Given the description of an element on the screen output the (x, y) to click on. 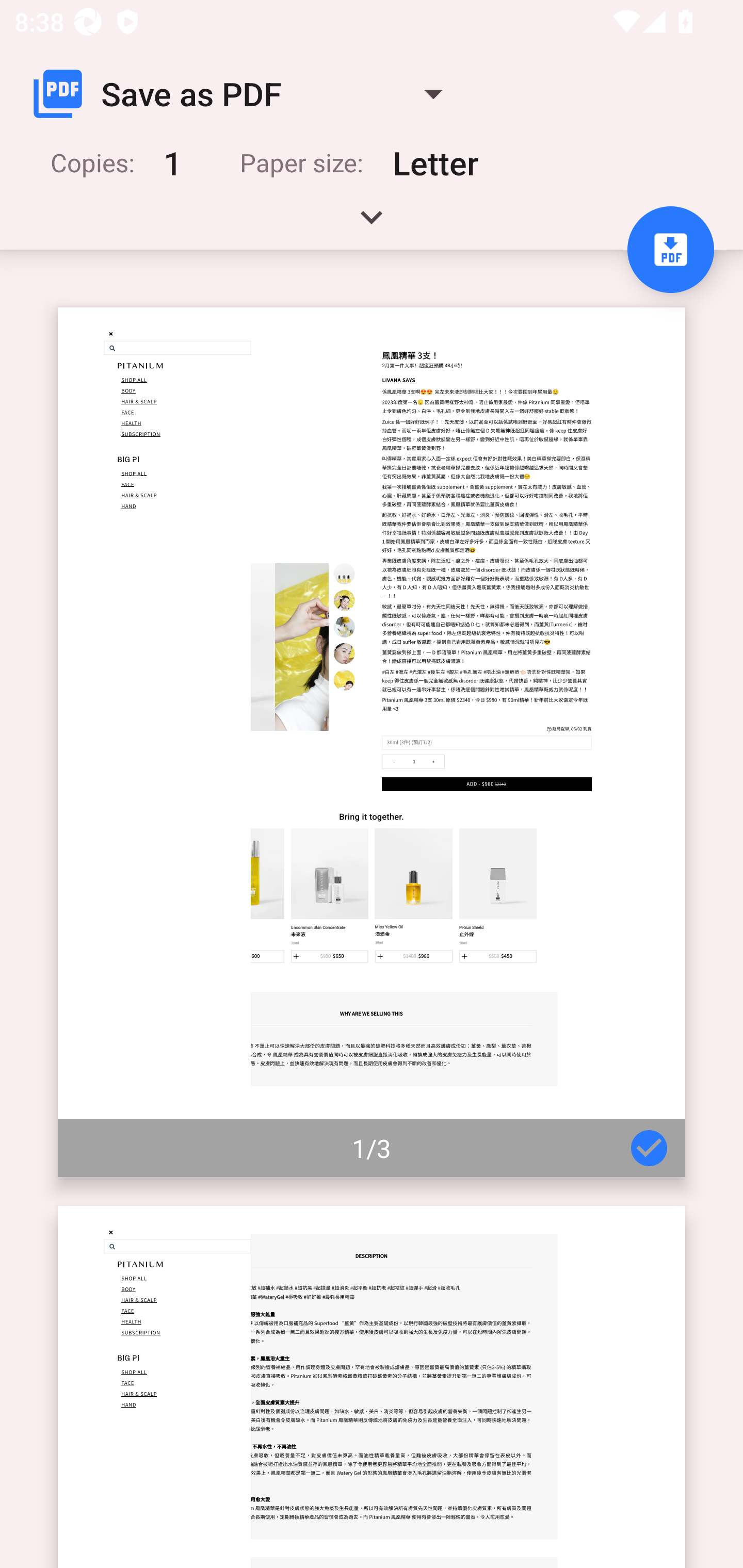
Save as PDF (245, 93)
Expand handle (371, 224)
Save to PDF (670, 249)
Page 1 of 3 1/3 (371, 742)
Page 2 of 3 (371, 1386)
